Given the description of an element on the screen output the (x, y) to click on. 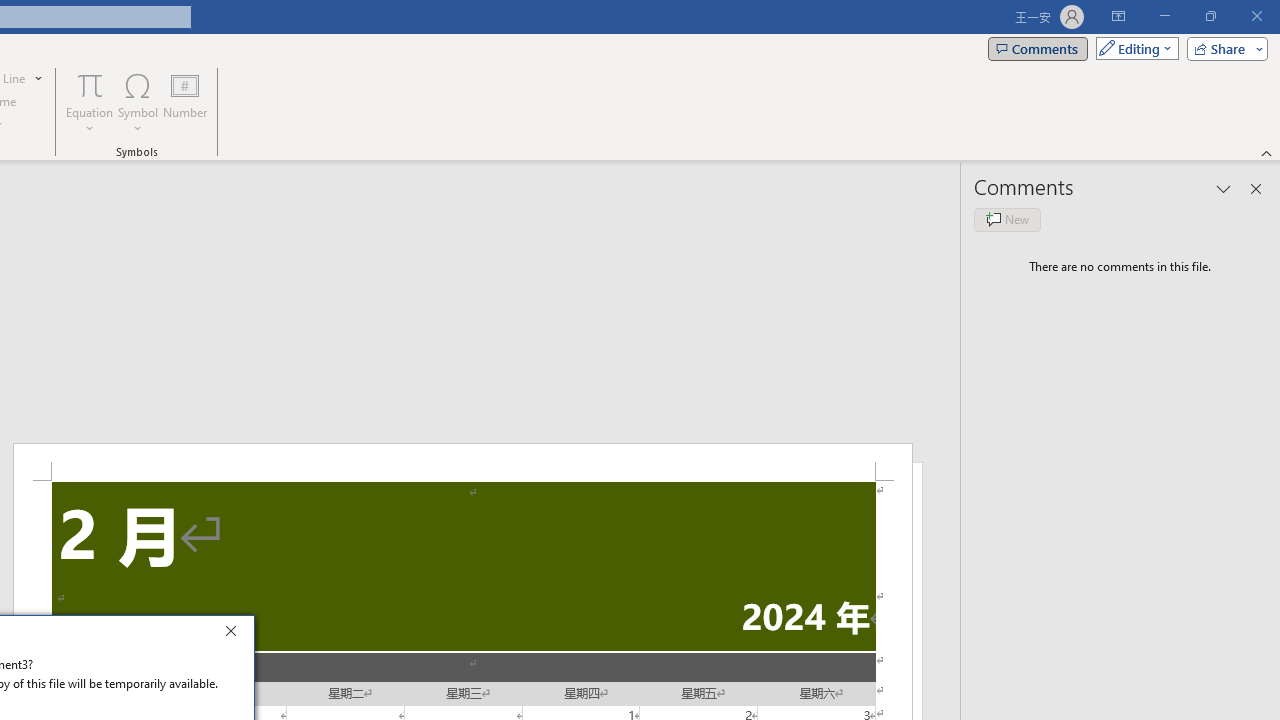
Header -Section 2- (462, 461)
Number... (185, 102)
New comment (1007, 219)
Symbol (138, 102)
